Given the description of an element on the screen output the (x, y) to click on. 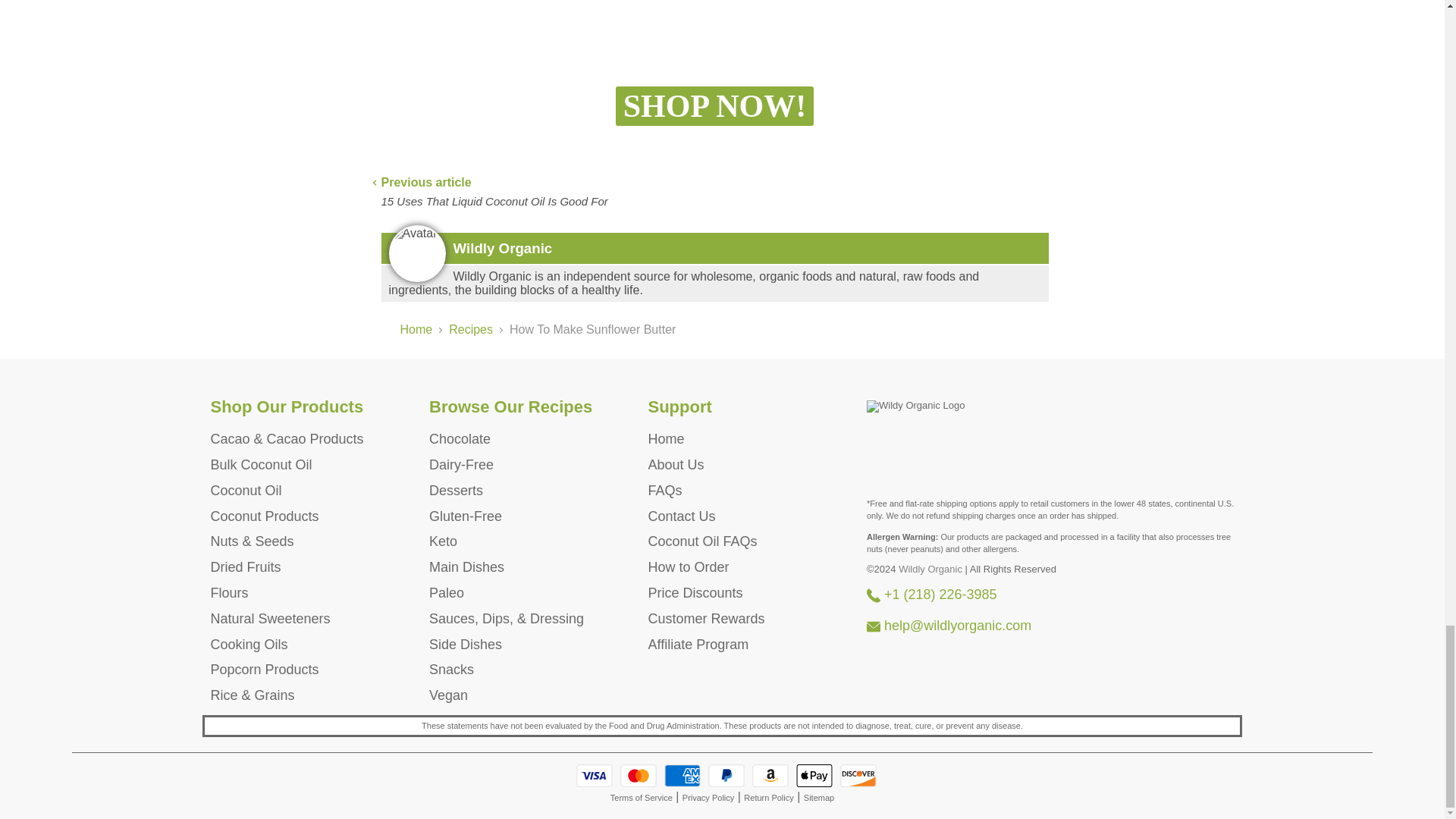
Visa (594, 775)
American Express (681, 775)
Mastercard (638, 775)
